Given the description of an element on the screen output the (x, y) to click on. 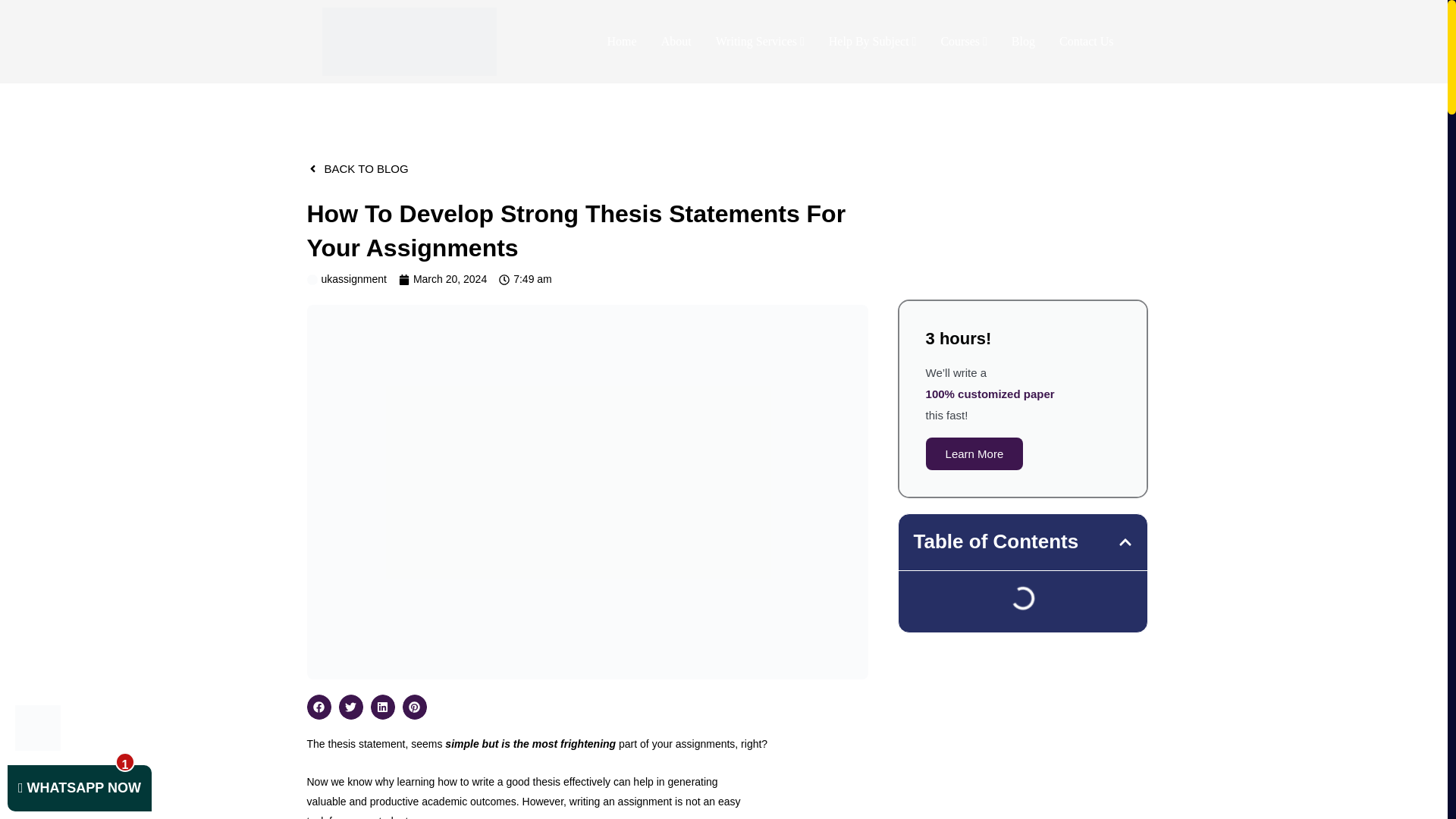
Courses (963, 41)
Contact Us (1085, 41)
Writing Services (759, 41)
Home (622, 41)
Blog (1022, 41)
About (676, 41)
Help By Subject (872, 41)
